Given the description of an element on the screen output the (x, y) to click on. 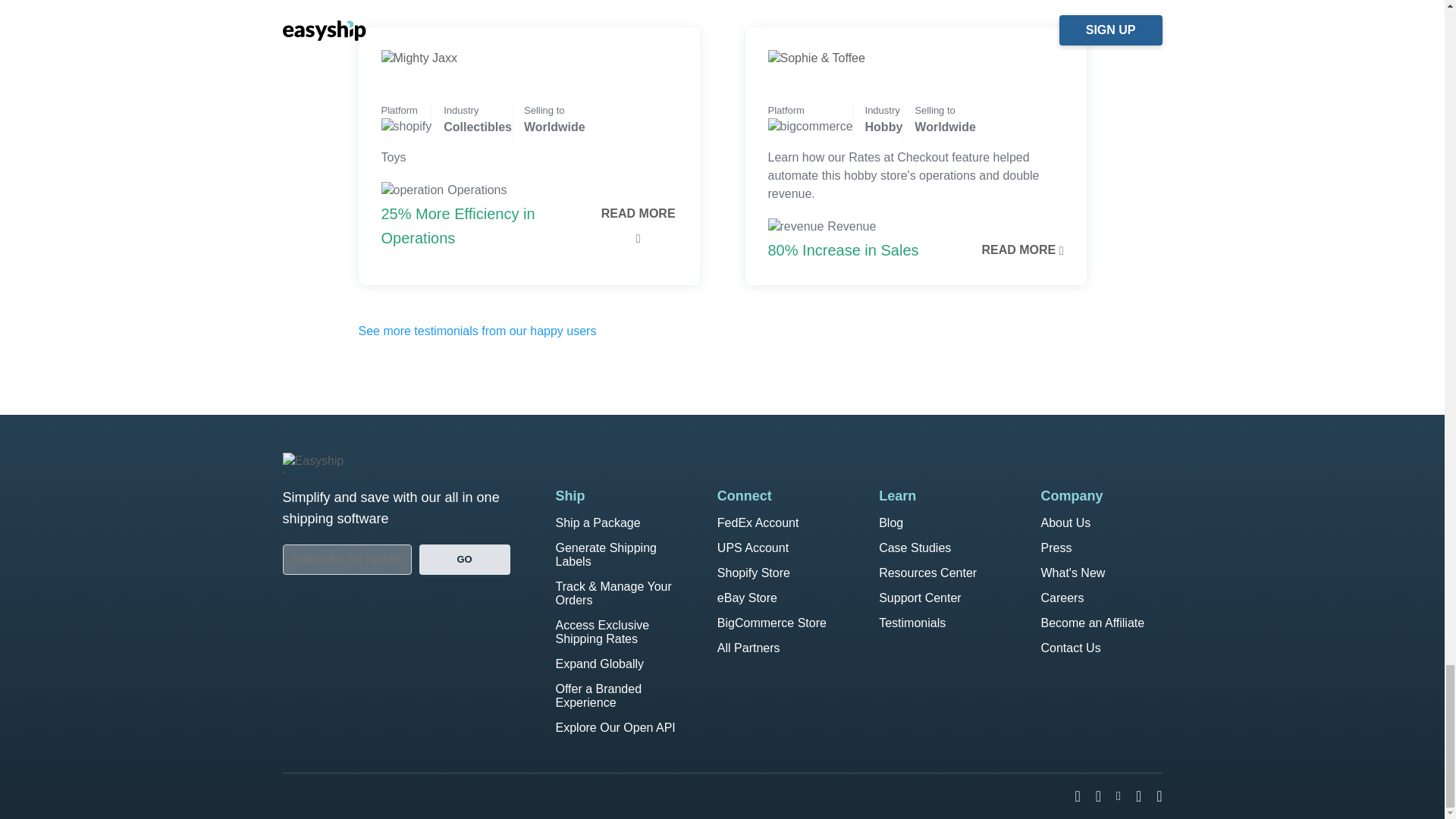
See more testimonials from our happy users (476, 330)
Contact Us (1070, 647)
Case Studies (914, 547)
BigCommerce Store (772, 622)
Blog (890, 522)
Generate Shipping Labels (605, 554)
UPS Account (753, 547)
Become an Affiliate (1092, 622)
Support Center (919, 597)
Testimonials (911, 622)
FedEx Account (758, 522)
What's New (1073, 572)
Resources Center (927, 572)
Explore Our Open API (614, 727)
Press (1056, 547)
